Given the description of an element on the screen output the (x, y) to click on. 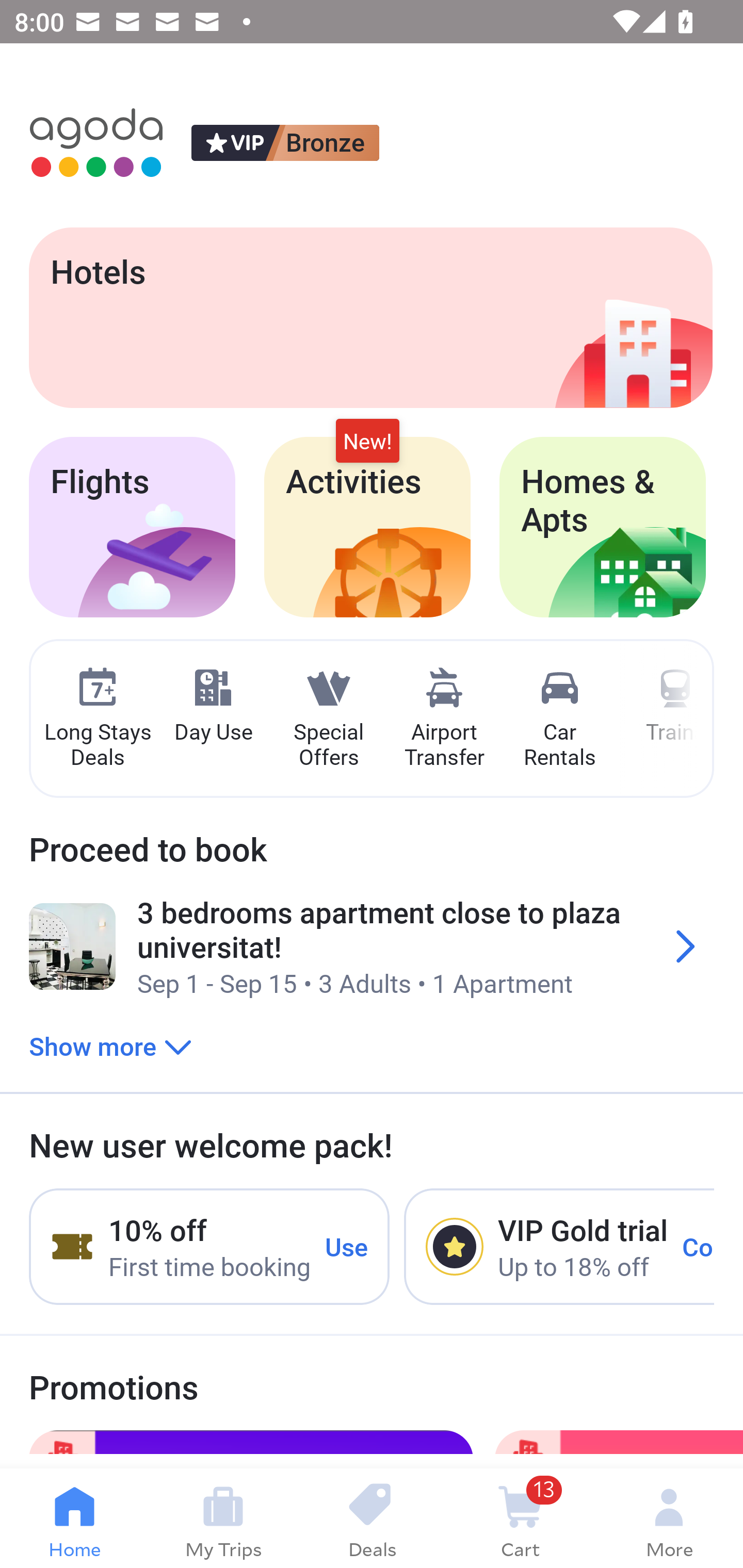
Hotels (370, 317)
New! (367, 441)
Flights (131, 527)
Activities (367, 527)
Homes & Apts (602, 527)
Day Use (213, 706)
Long Stays Deals (97, 718)
Special Offers (328, 718)
Airport Transfer (444, 718)
Car Rentals (559, 718)
Show more (110, 1045)
Use (346, 1246)
Home (74, 1518)
My Trips (222, 1518)
Deals (371, 1518)
13 Cart (519, 1518)
More (668, 1518)
